Given the description of an element on the screen output the (x, y) to click on. 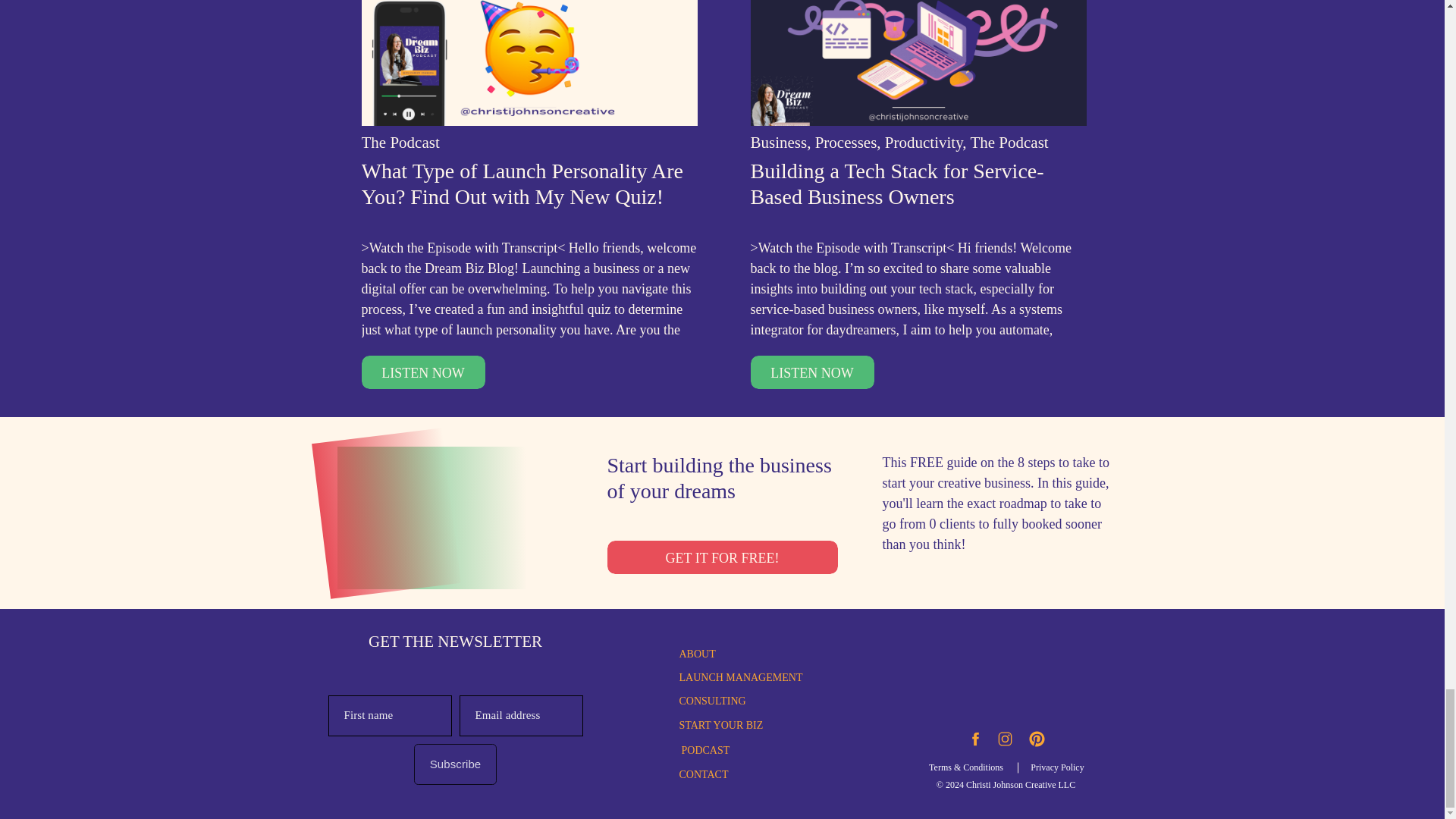
Building a Tech Stack for Service-Based Business Owners (918, 63)
Building a Tech Stack for Service-Based Business Owners (813, 372)
